Given the description of an element on the screen output the (x, y) to click on. 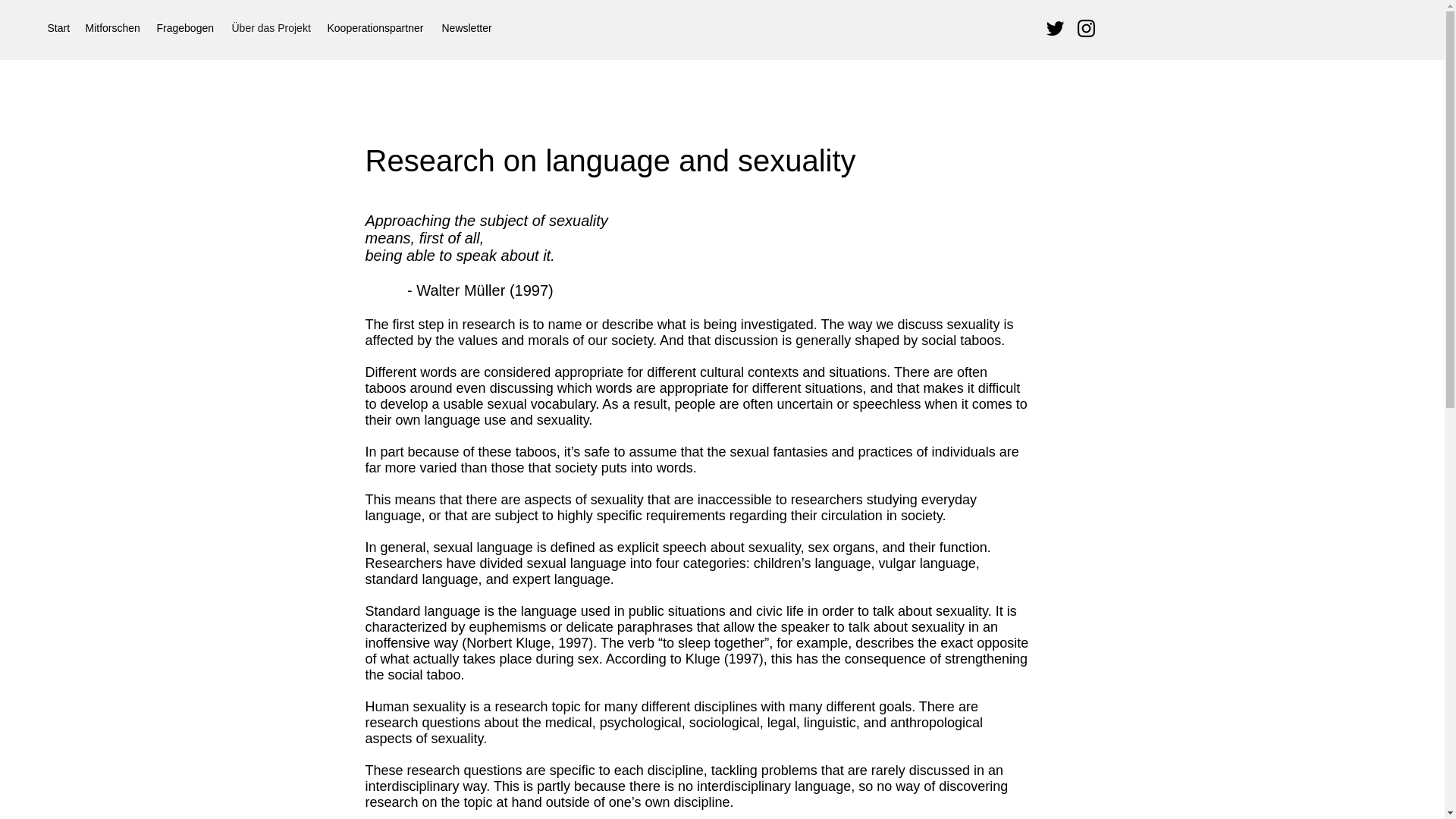
Mitforschen (112, 27)
Newsletter (466, 27)
Kooperationspartner (376, 27)
Fragebogen (186, 27)
Start (58, 27)
